Given the description of an element on the screen output the (x, y) to click on. 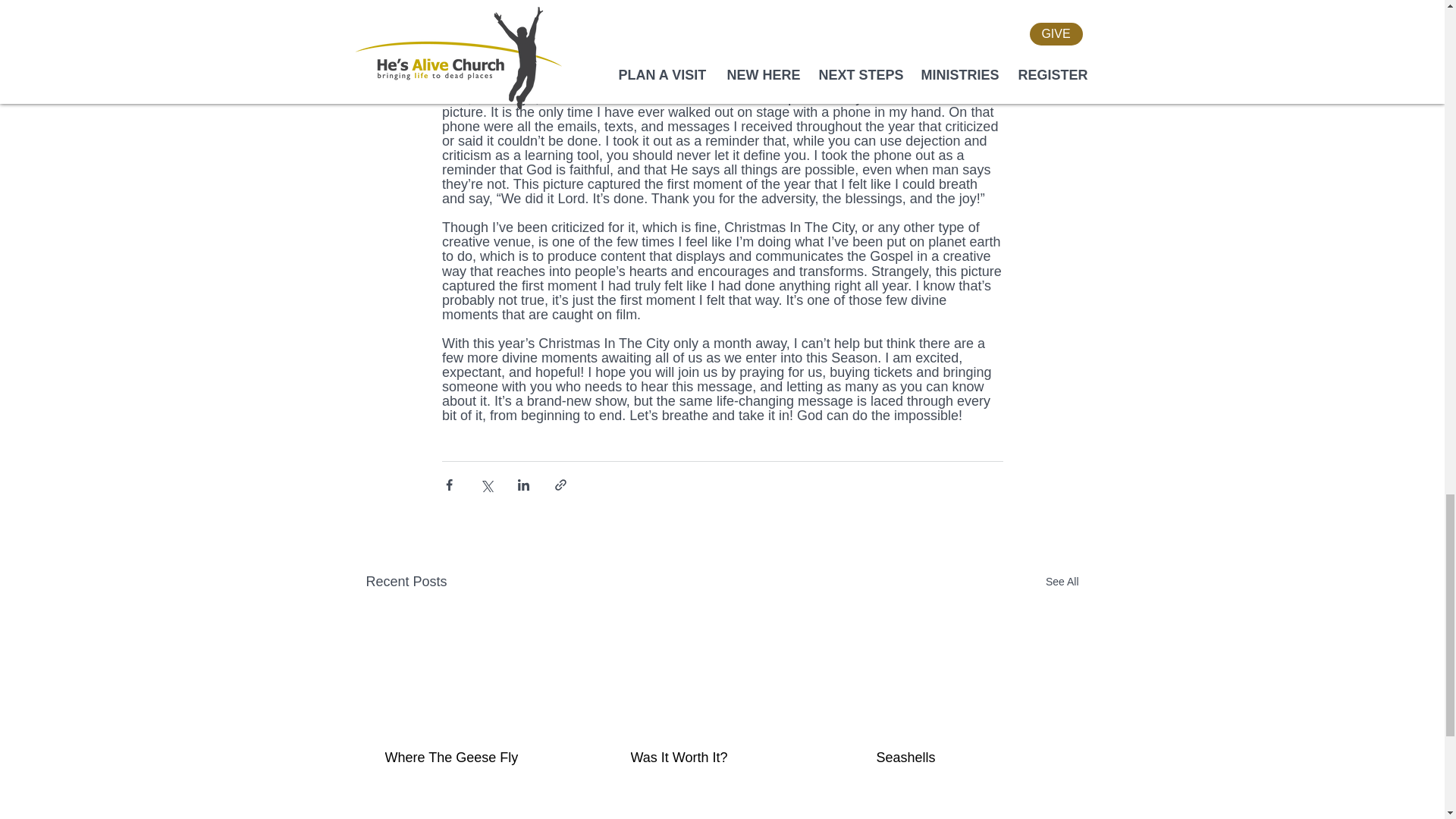
See All (1061, 581)
Where The Geese Fly (476, 757)
Was It Worth It? (721, 757)
Seashells (967, 757)
